Given the description of an element on the screen output the (x, y) to click on. 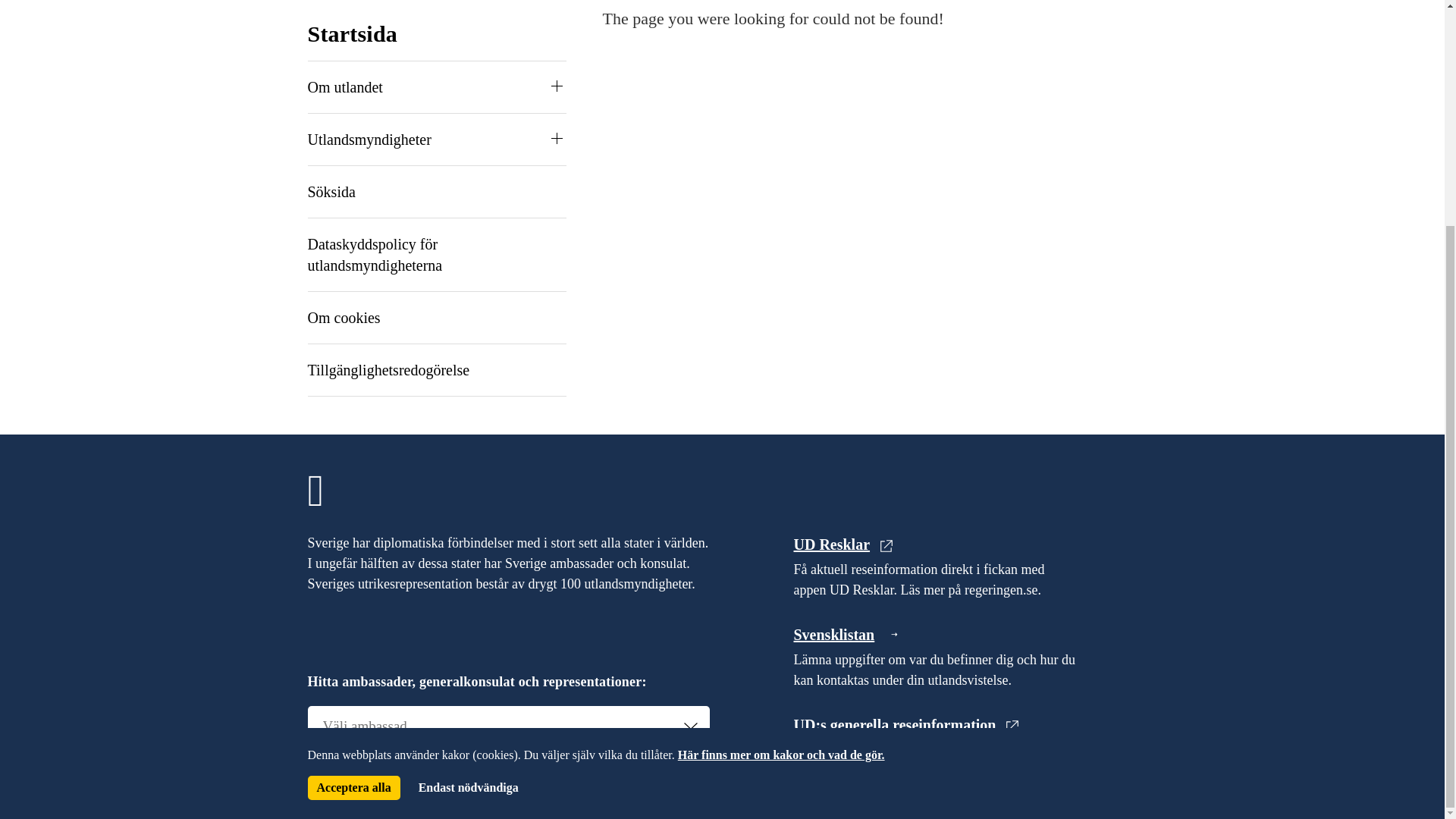
Acceptera alla (353, 485)
Om utlandet (344, 86)
Startsida (352, 33)
